Given the description of an element on the screen output the (x, y) to click on. 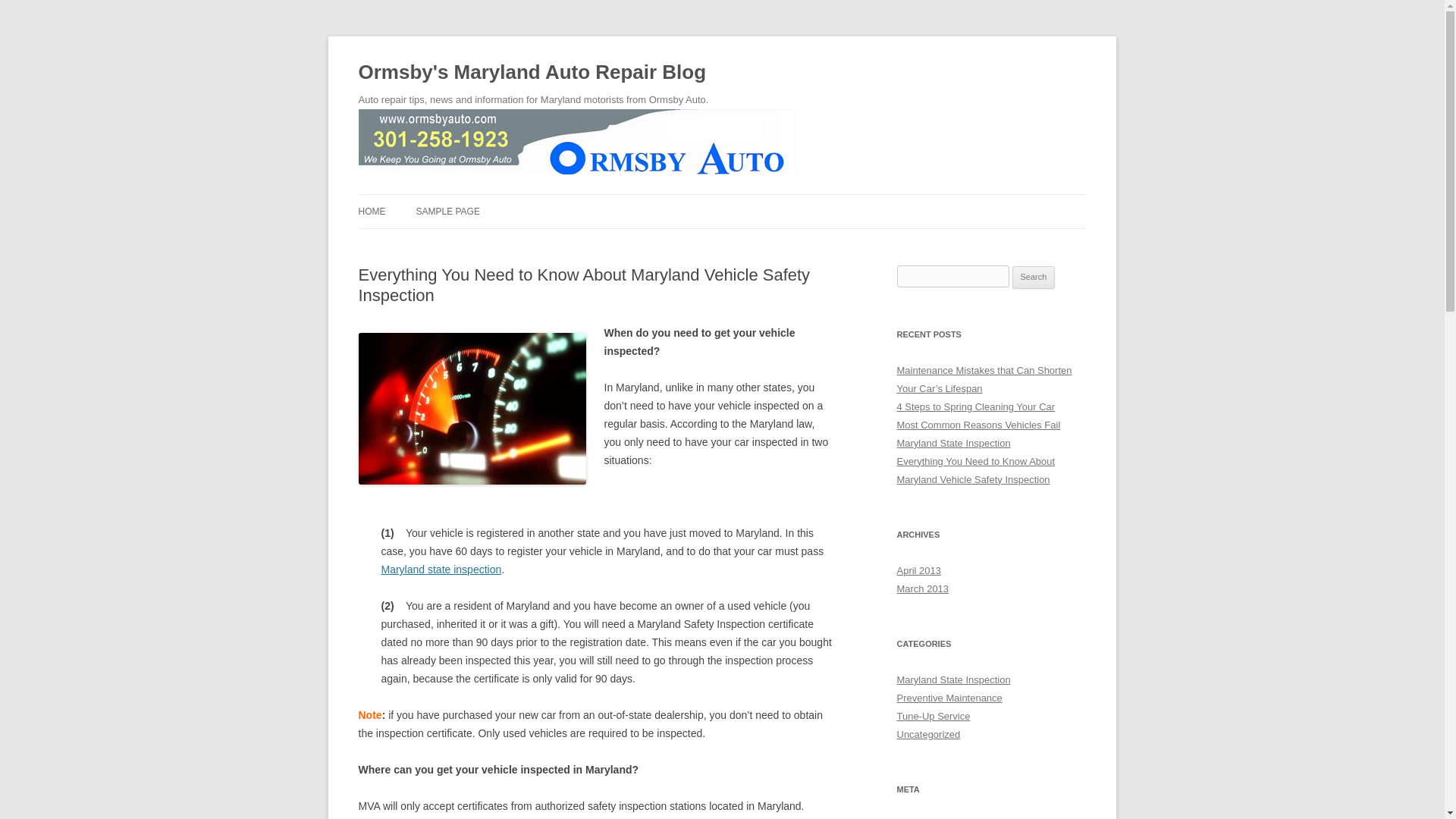
Skip to content (757, 199)
April 2013 (918, 570)
View all posts filed under Preventive Maintenance (948, 697)
Search (1033, 277)
Maryland state inspection (440, 569)
Ormsby's Maryland Auto Repair Blog (532, 72)
Uncategorized (927, 734)
March 2013 (922, 588)
March 2013 (922, 588)
Skip to content (757, 199)
Maryland State Inspection (953, 679)
4 Steps to Spring Cleaning Your Car (975, 406)
4 Steps to Spring Cleaning Your Car (975, 406)
Tune-Up Service (932, 715)
